Given the description of an element on the screen output the (x, y) to click on. 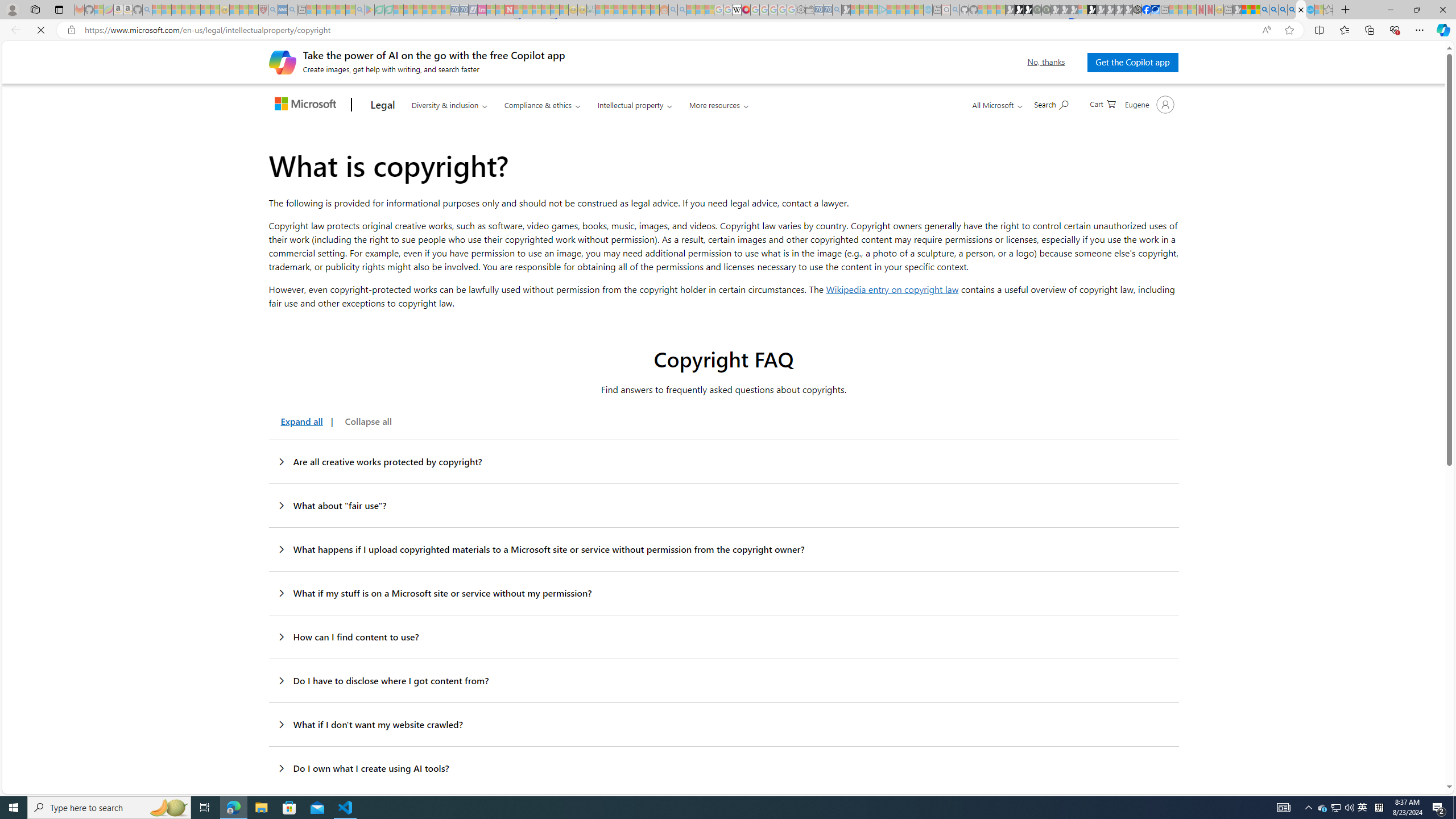
Nordace - Cooler Bags (1137, 9)
github - Search - Sleeping (954, 9)
Jobs - lastminute.com Investor Portal - Sleeping (482, 9)
